Given the description of an element on the screen output the (x, y) to click on. 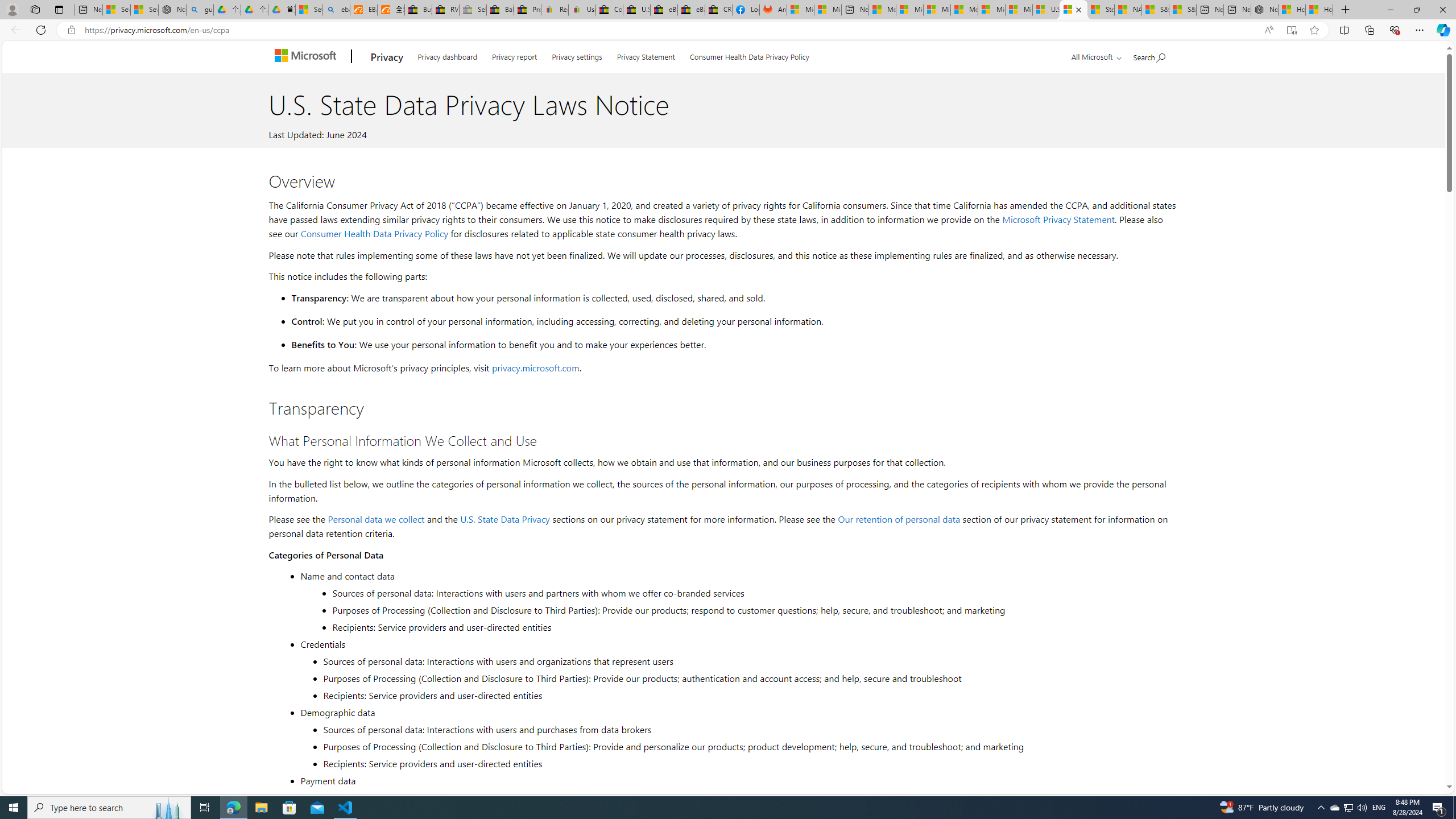
Buy Auto Parts & Accessories | eBay (418, 9)
RV, Trailer & Camper Steps & Ladders for sale | eBay (445, 9)
Minimize (1390, 9)
Our retention of personal data (898, 518)
Collections (1369, 29)
Microsoft (306, 56)
Consumer Health Data Privacy Policy - eBay Inc. (609, 9)
Microsoft Privacy Statement (1058, 218)
Payment data (736, 780)
Microsoft account | Home (936, 9)
